Given the description of an element on the screen output the (x, y) to click on. 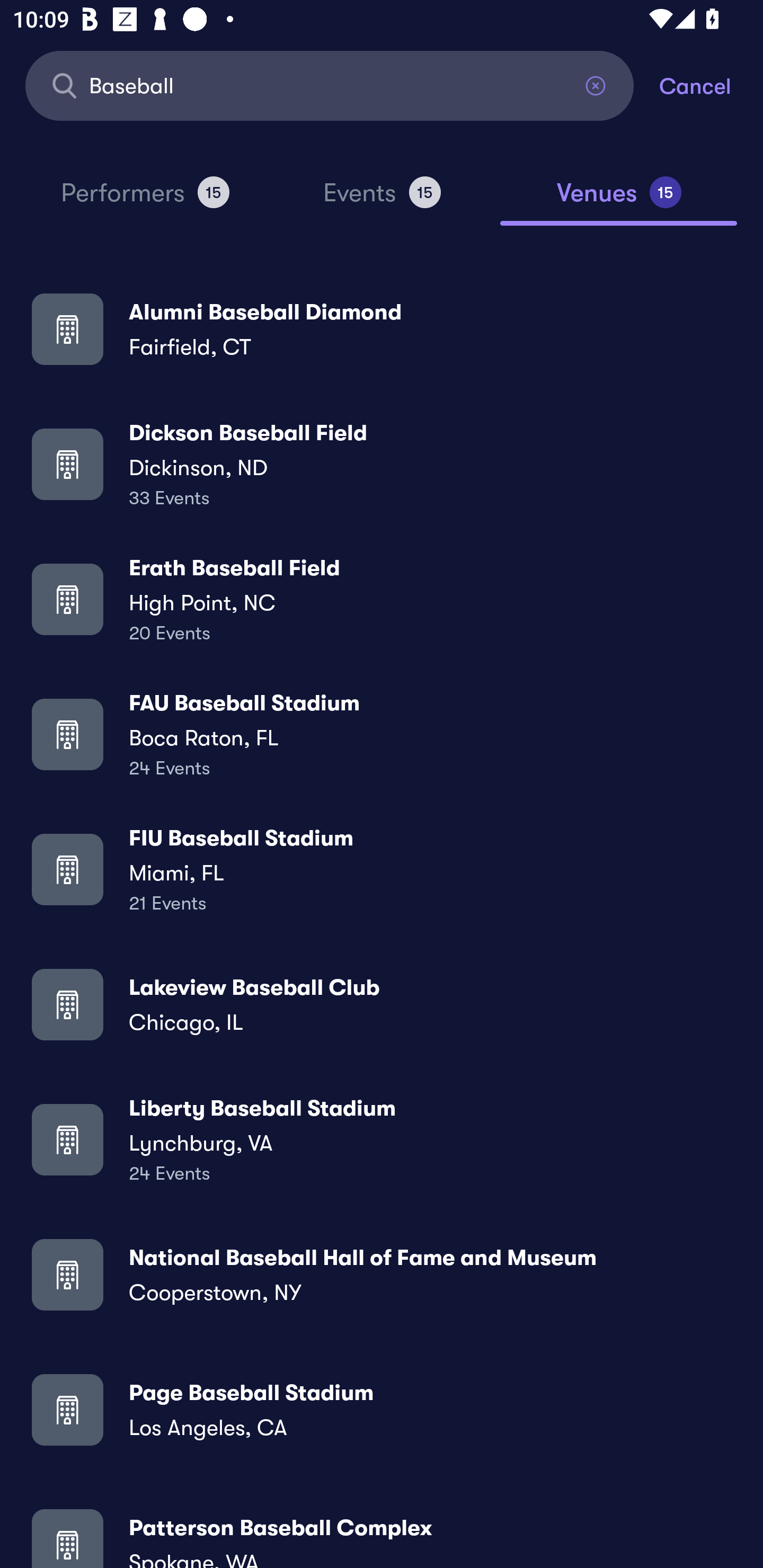
Baseball Find (329, 85)
Baseball Find (329, 85)
Cancel (711, 85)
Performers 15 (144, 200)
Events 15 (381, 200)
Venues 15 (618, 200)
Alumni Baseball Diamond Fairfield, CT (381, 328)
Dickson Baseball Field Dickinson, ND 33 Events (381, 464)
Erath Baseball Field High Point, NC 20 Events (381, 598)
FAU Baseball Stadium Boca Raton, FL 24 Events (381, 734)
FIU Baseball Stadium Miami, FL 21 Events (381, 869)
Lakeview Baseball Club Chicago, IL (381, 1004)
Liberty Baseball Stadium Lynchburg, VA 24 Events (381, 1138)
Page Baseball Stadium Los Angeles, CA (381, 1409)
Patterson Baseball Complex Spokane, WA (381, 1532)
